Given the description of an element on the screen output the (x, y) to click on. 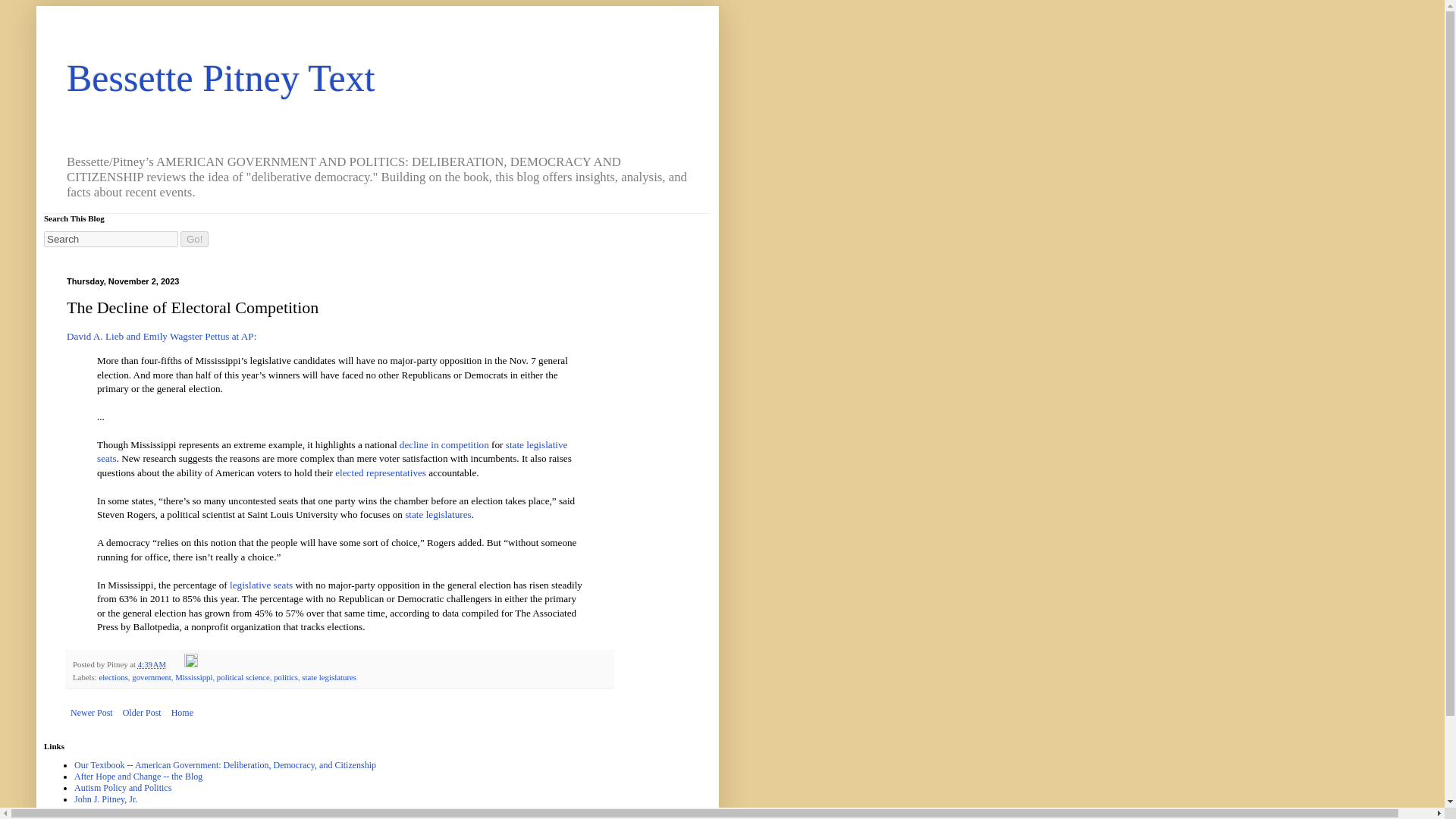
state legislatures (437, 514)
decline in competition (443, 444)
state legislative seats (332, 451)
After Hope and Change -- the Blog (138, 776)
Email Post (176, 664)
elected representatives (380, 472)
permanent link (151, 664)
state legislatures (328, 676)
Go! (194, 238)
legislative seats (261, 584)
Newer Post (91, 712)
Older Post (142, 712)
elections (113, 676)
